Given the description of an element on the screen output the (x, y) to click on. 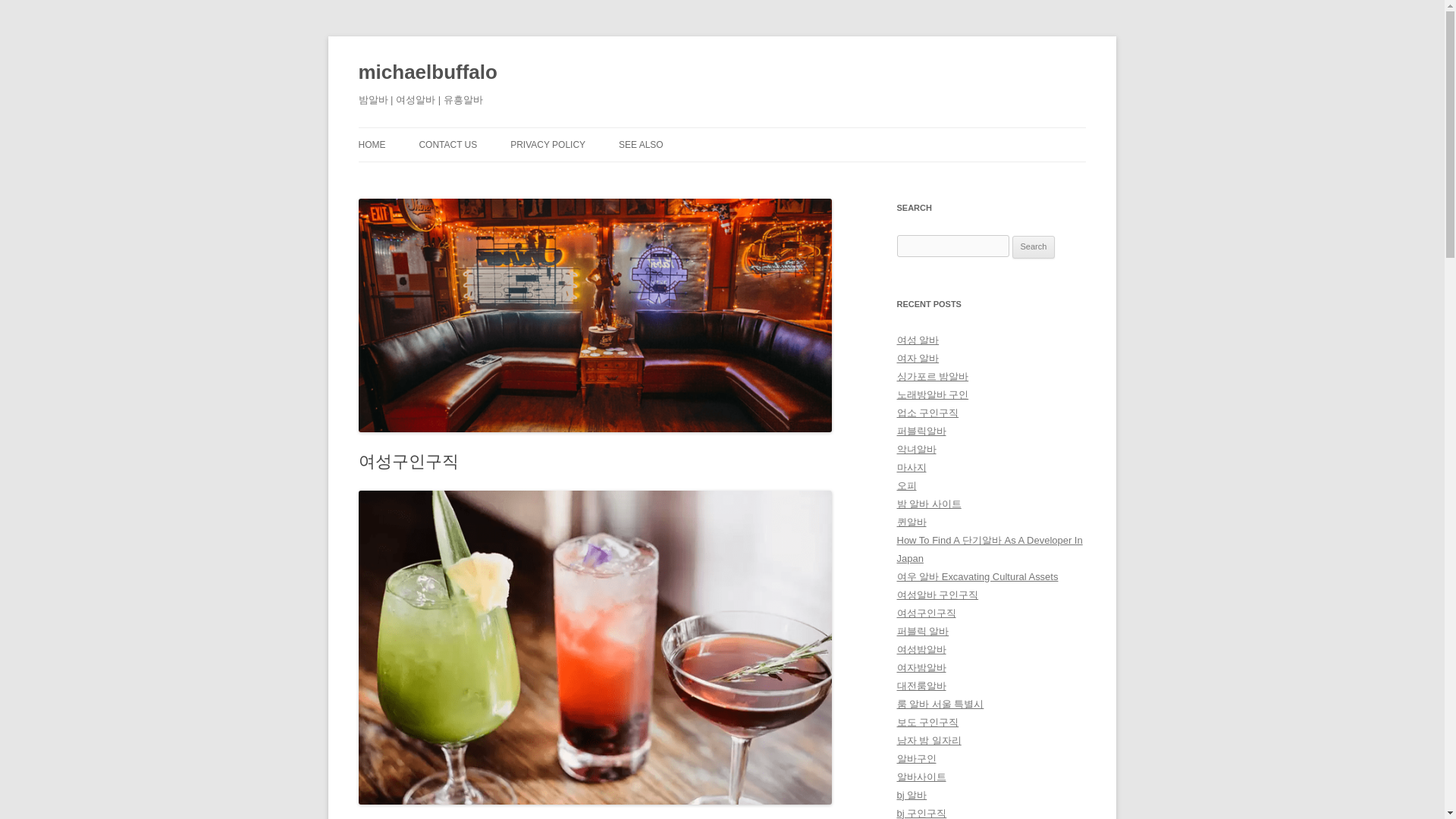
Search (1033, 246)
PRIVACY POLICY (548, 144)
michaelbuffalo (427, 72)
Search (1033, 246)
CONTACT US (448, 144)
SEE ALSO (640, 144)
